Given the description of an element on the screen output the (x, y) to click on. 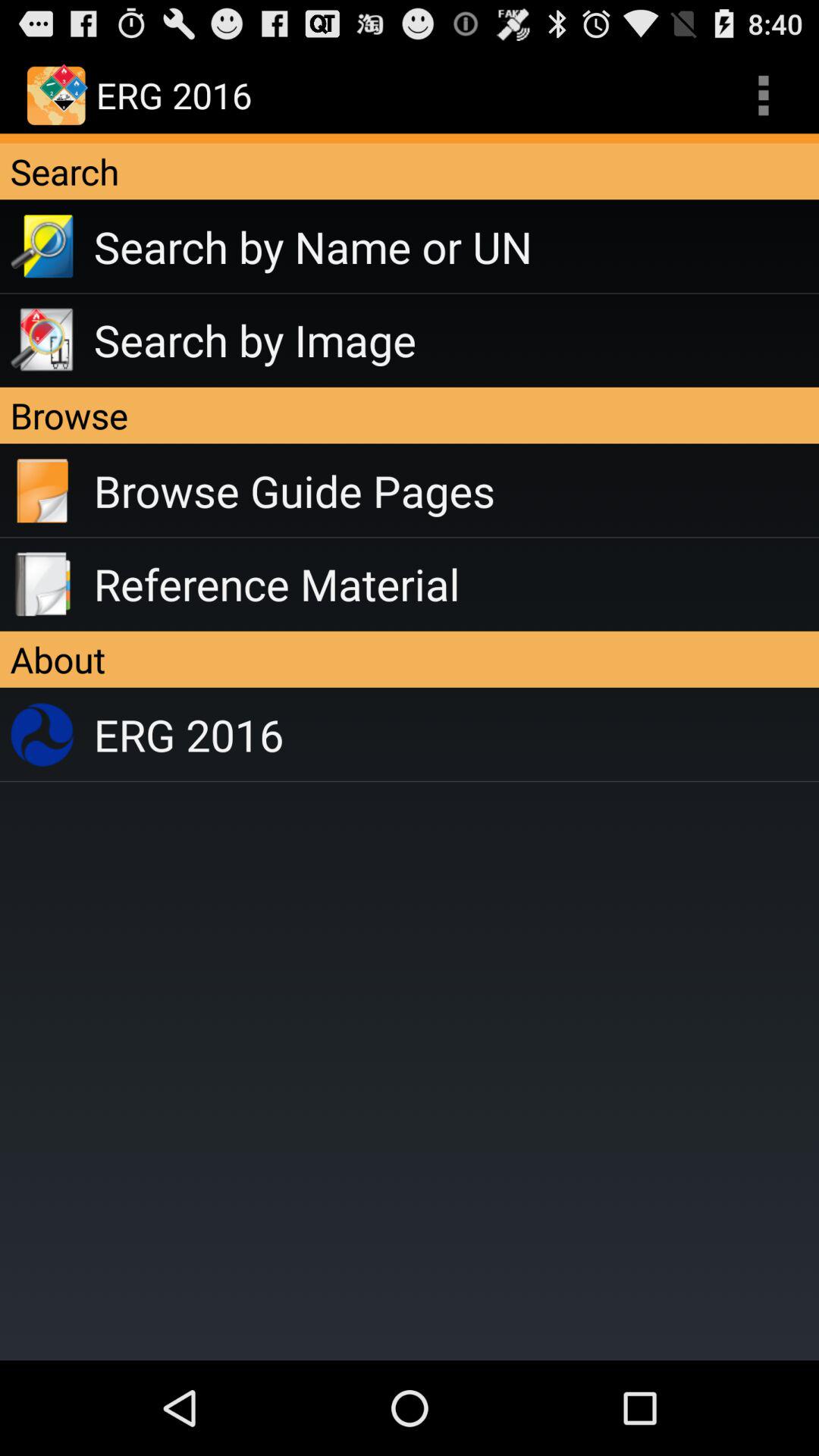
jump to browse guide pages app (456, 490)
